Given the description of an element on the screen output the (x, y) to click on. 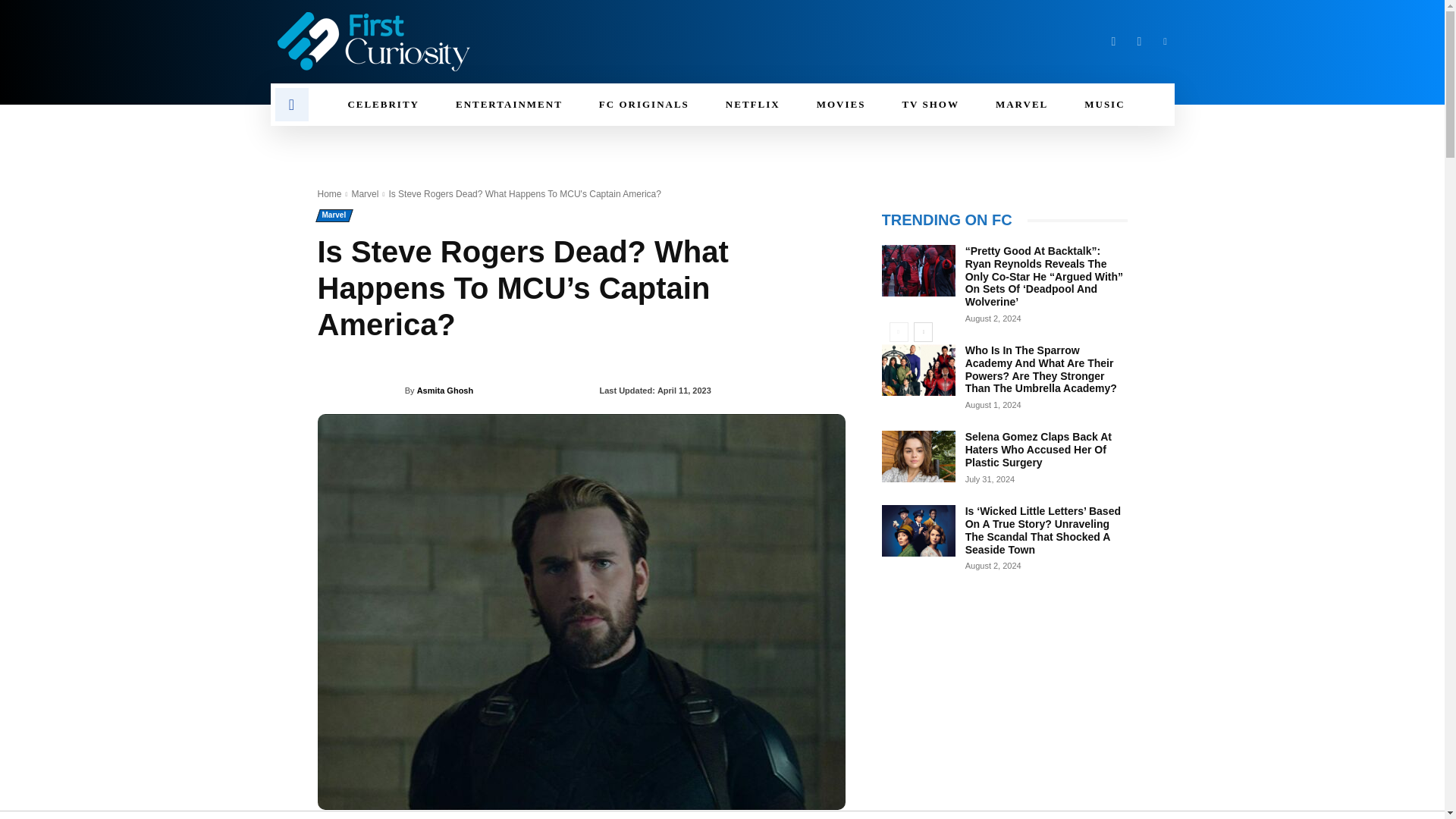
Marvel (364, 194)
Home (328, 194)
FC ORIGINALS (643, 104)
Linkedin (1164, 41)
CELEBRITY (383, 104)
ENTERTAINMENT (509, 104)
View all posts in Marvel (364, 194)
MOVIES (840, 104)
MUSIC (1103, 104)
Facebook (1112, 41)
MARVEL (1020, 104)
TV SHOW (929, 104)
Twitter (1138, 41)
NETFLIX (752, 104)
